Given the description of an element on the screen output the (x, y) to click on. 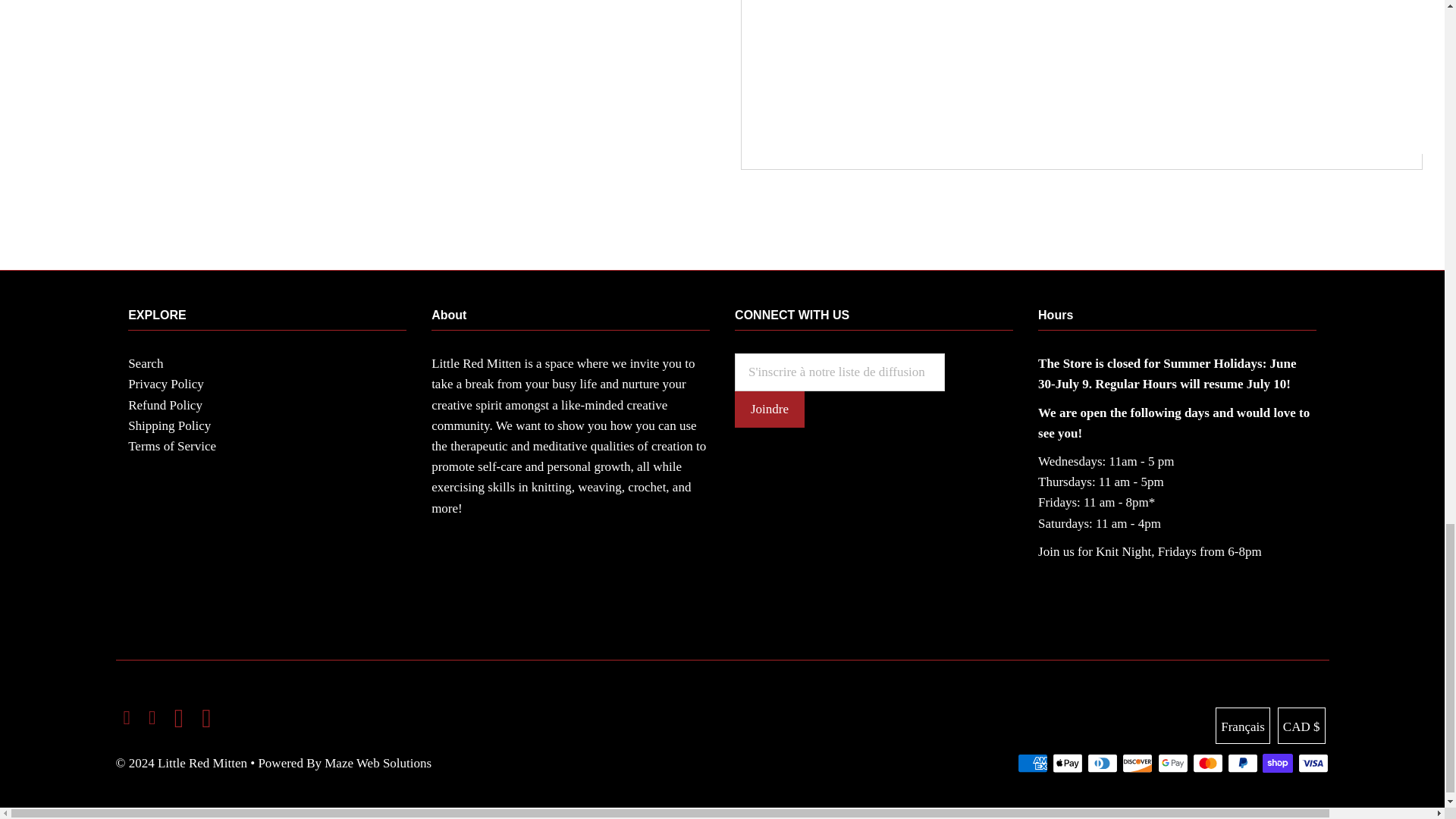
Joindre (770, 409)
Diners Club (1102, 763)
Google Pay (1172, 763)
American Express (1032, 763)
Discover (1137, 763)
Visa (1312, 763)
Shop Pay (1277, 763)
Mastercard (1207, 763)
PayPal (1242, 763)
Apple Pay (1067, 763)
